Given the description of an element on the screen output the (x, y) to click on. 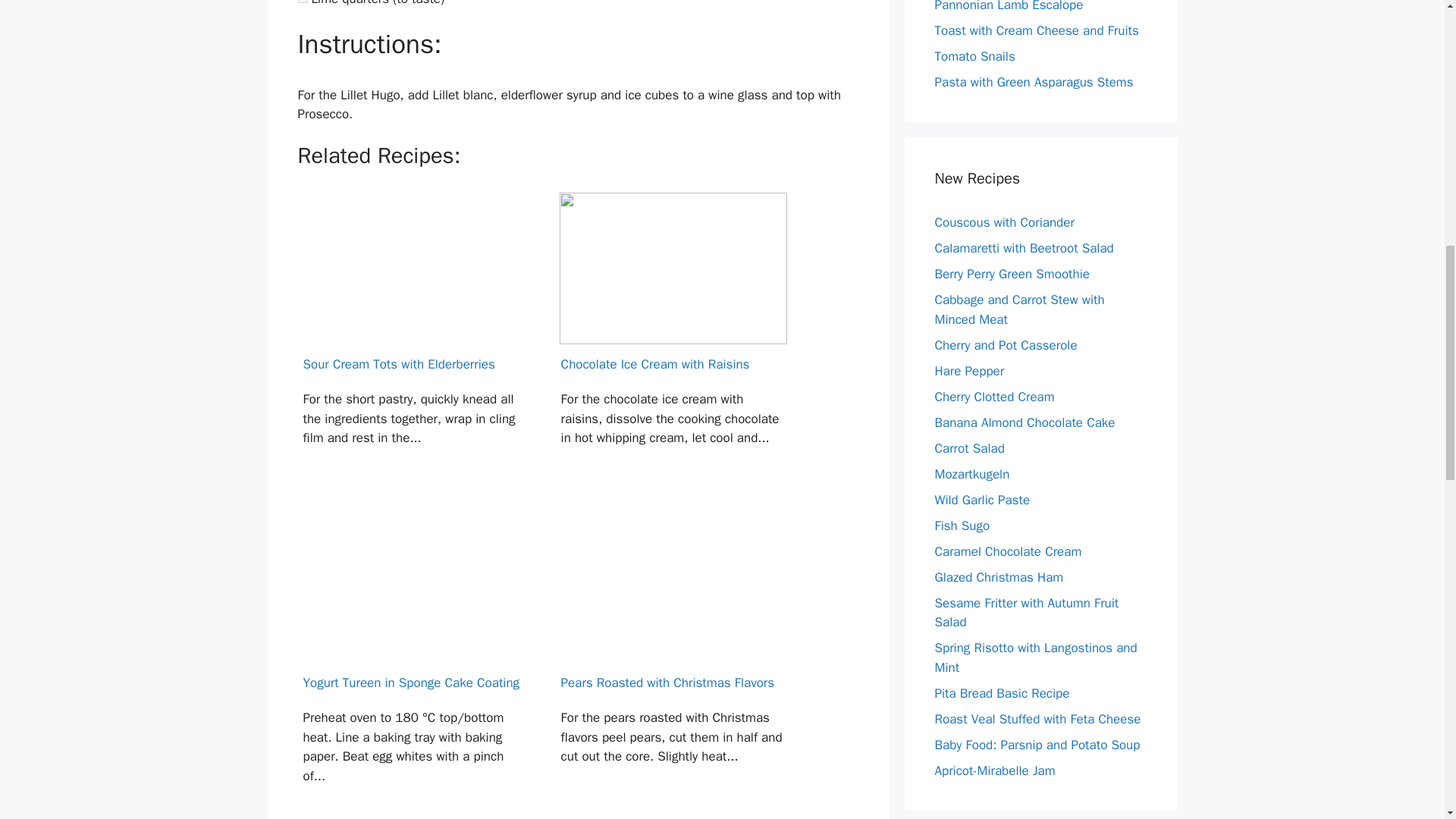
Sour Cream Tots with Elderberries (414, 344)
Tomato Snails (974, 56)
Pannonian Lamb Escalope (1008, 6)
Pears Roasted with Christmas Flavors (673, 662)
Pasta with Green Asparagus Stems (1033, 82)
Toast with Cream Cheese and Fruits (1036, 30)
Chocolate Ice Cream with Raisins (673, 344)
Yogurt Tureen in Sponge Cake Coating (414, 662)
Couscous with Coriander (1004, 222)
